Given the description of an element on the screen output the (x, y) to click on. 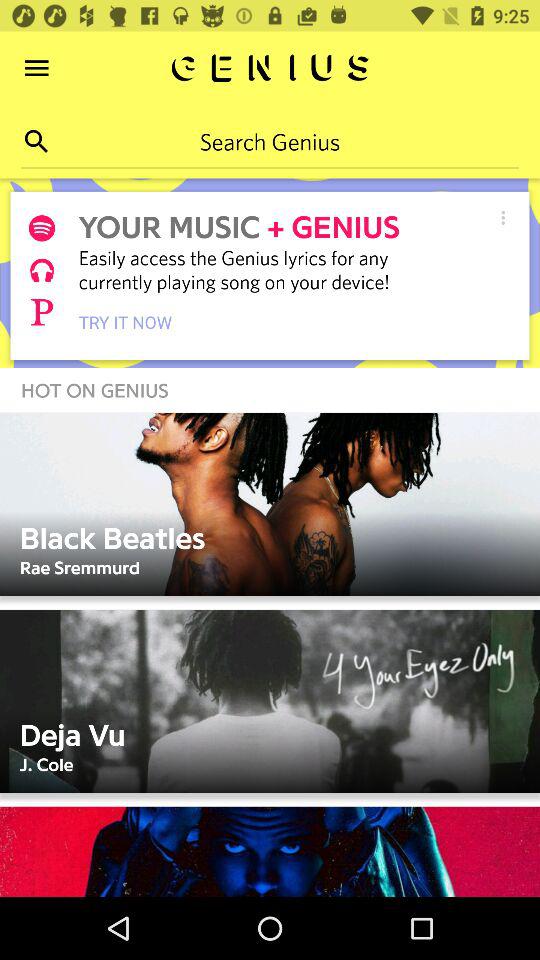
turn off icon next to + genius item (502, 217)
